Given the description of an element on the screen output the (x, y) to click on. 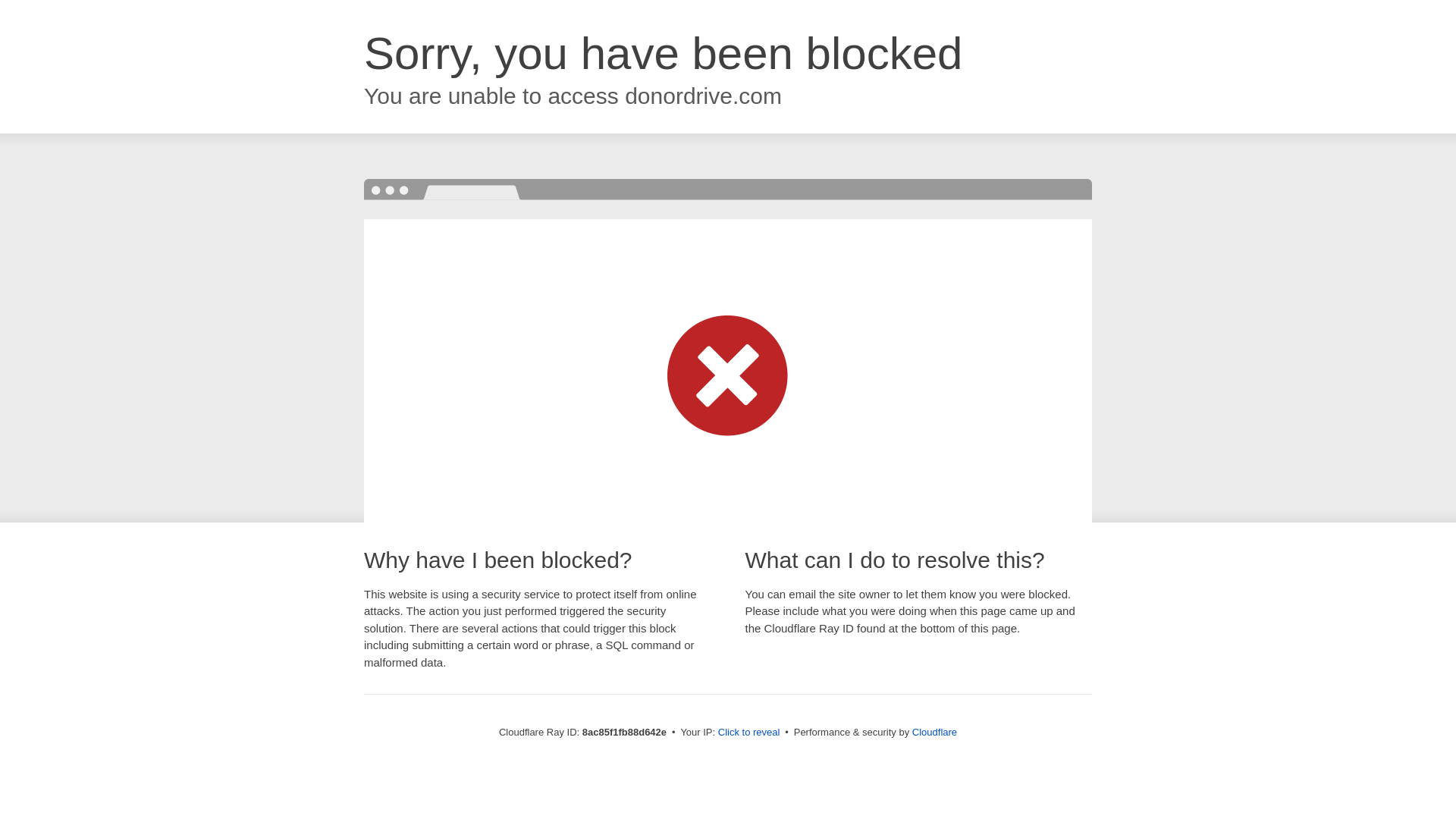
Click to reveal (748, 732)
Cloudflare (934, 731)
